Given the description of an element on the screen output the (x, y) to click on. 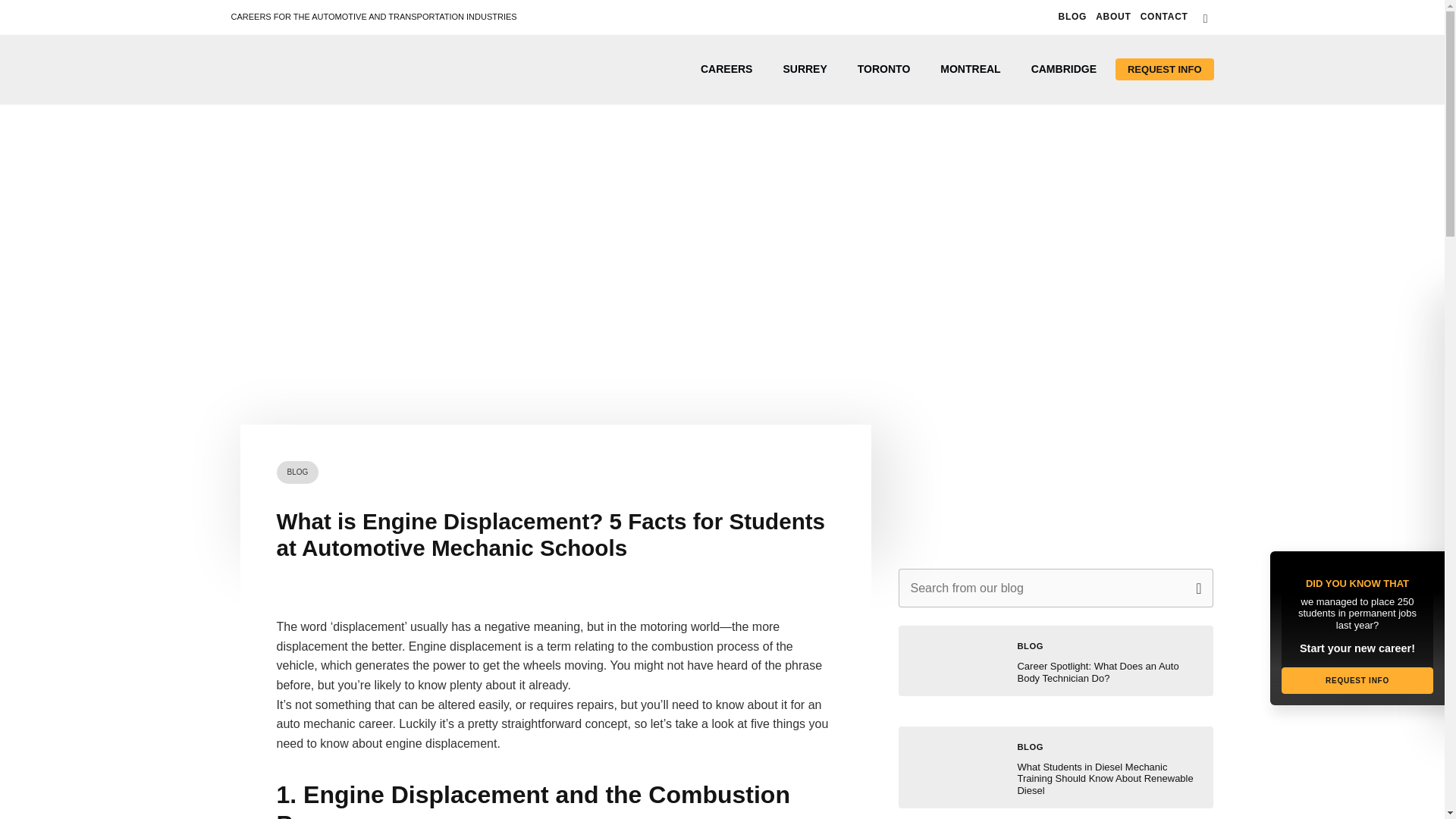
Career Spotlight: What Does an Auto Body Technician Do? (1096, 671)
MONTREAL (969, 69)
BLOG (1029, 645)
TORONTO (884, 69)
CAREERS (726, 69)
Surrey (804, 69)
Contact (1164, 17)
BLOG (297, 472)
Toronto (884, 69)
